Given the description of an element on the screen output the (x, y) to click on. 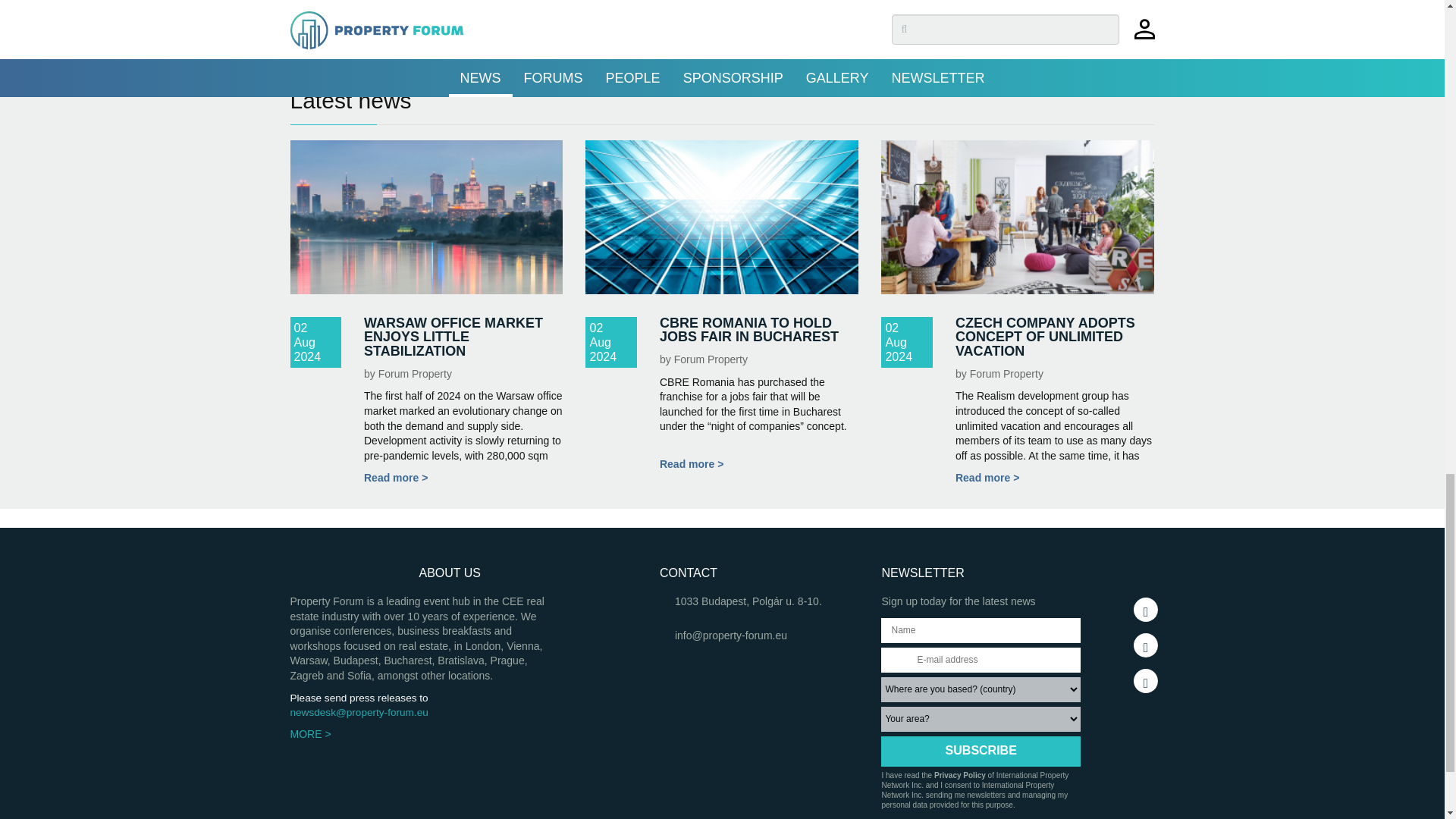
 SUBSCRIBE  (980, 751)
